Given the description of an element on the screen output the (x, y) to click on. 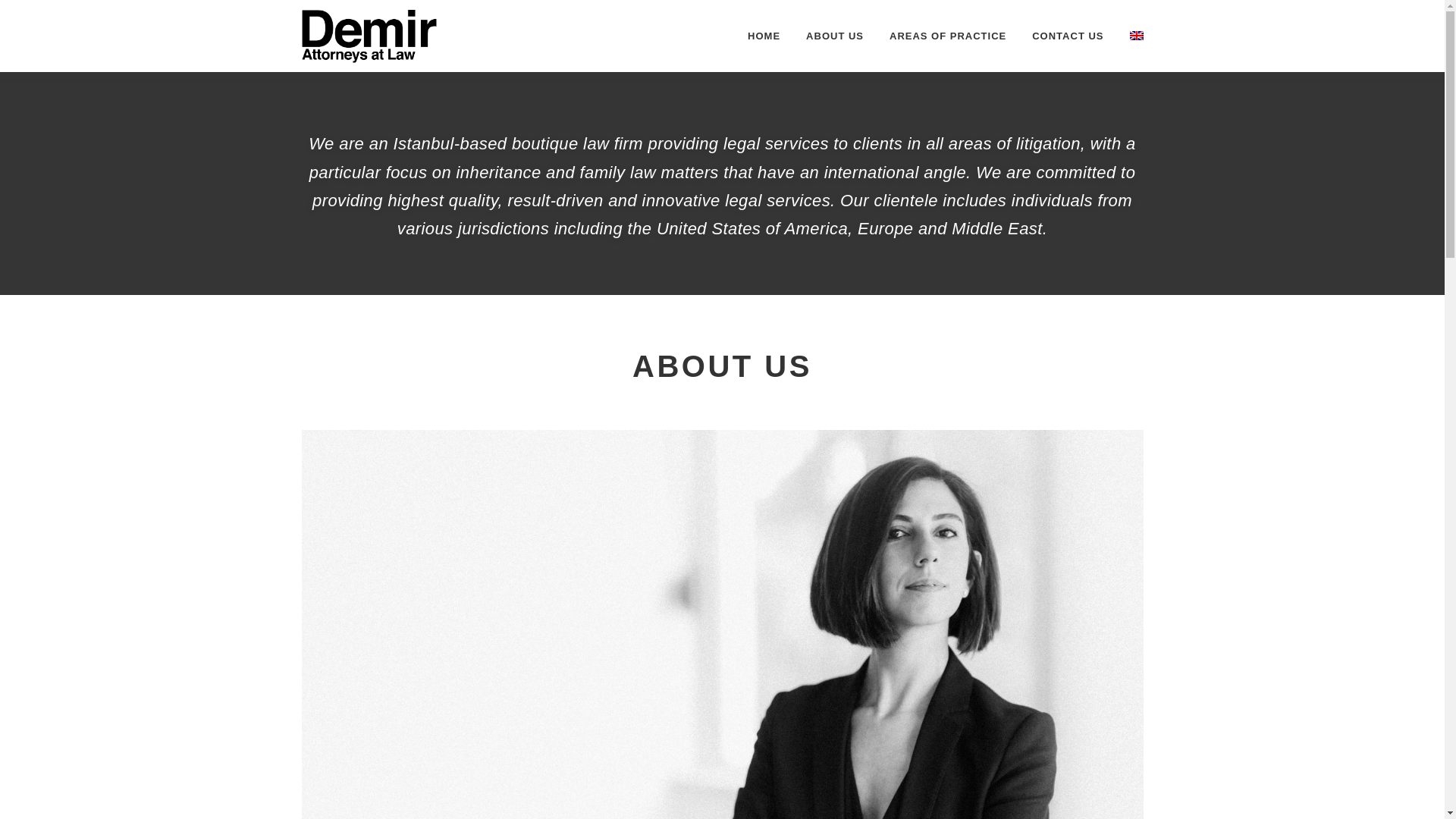
Skip to content (34, 9)
HOME (764, 35)
AREAS OF PRACTICE (947, 35)
CONTACT US (1067, 35)
ABOUT US (834, 35)
